Given the description of an element on the screen output the (x, y) to click on. 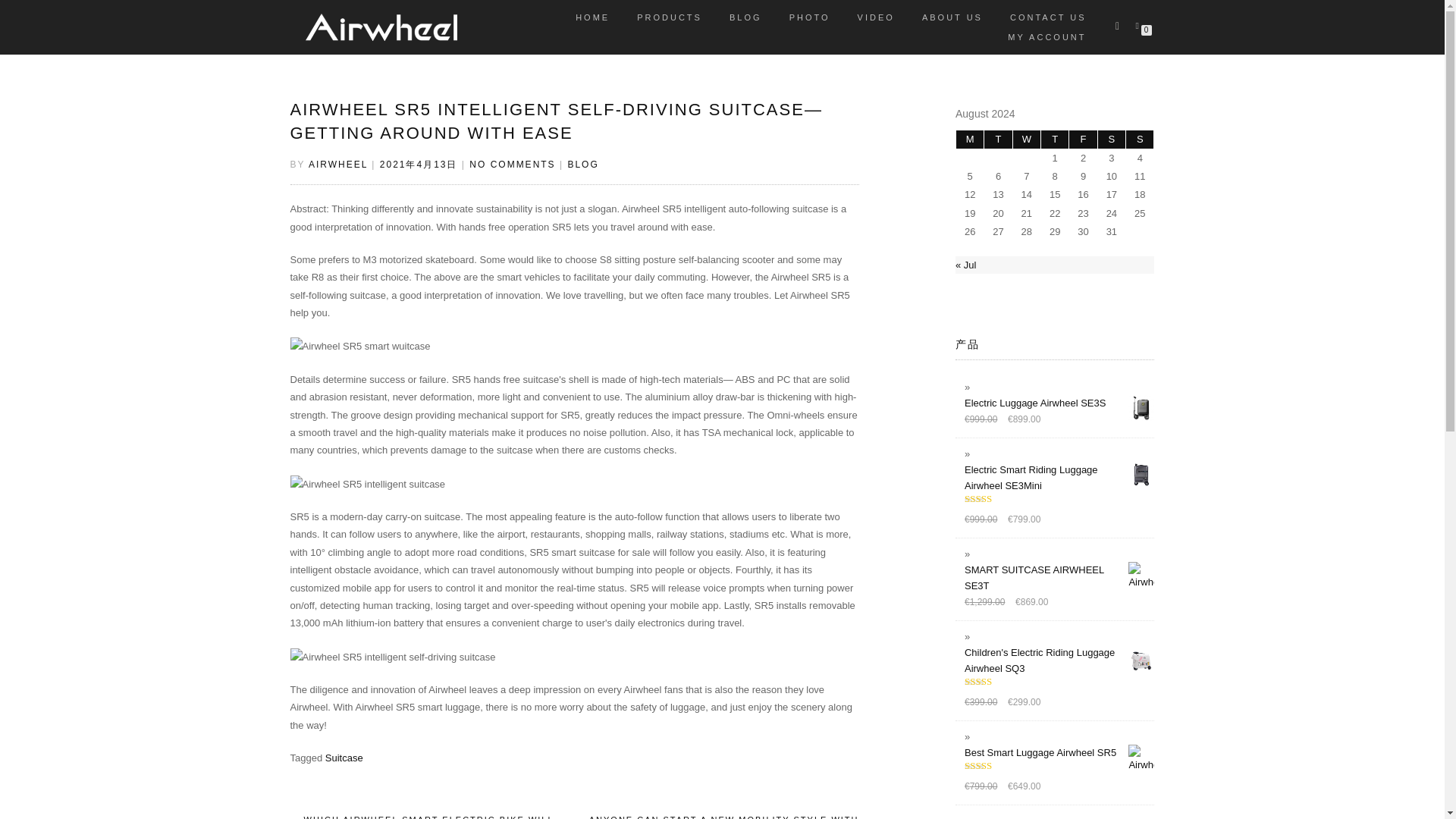
Children's Electric Riding Luggage Airwheel SQ3 (1058, 660)
Saturday (1111, 139)
AIRWHEEL (338, 163)
Sunday (1139, 139)
CONTACT US (1047, 17)
Electric Luggage Airwheel SE3S (1058, 402)
Suitcase (343, 757)
Wednesday (1027, 139)
Monday (970, 139)
0 (1139, 23)
Tuesday (997, 139)
VIDEO (875, 17)
PRODUCTS (669, 17)
View your shopping cart (1139, 23)
NO COMMENTS (511, 163)
